Given the description of an element on the screen output the (x, y) to click on. 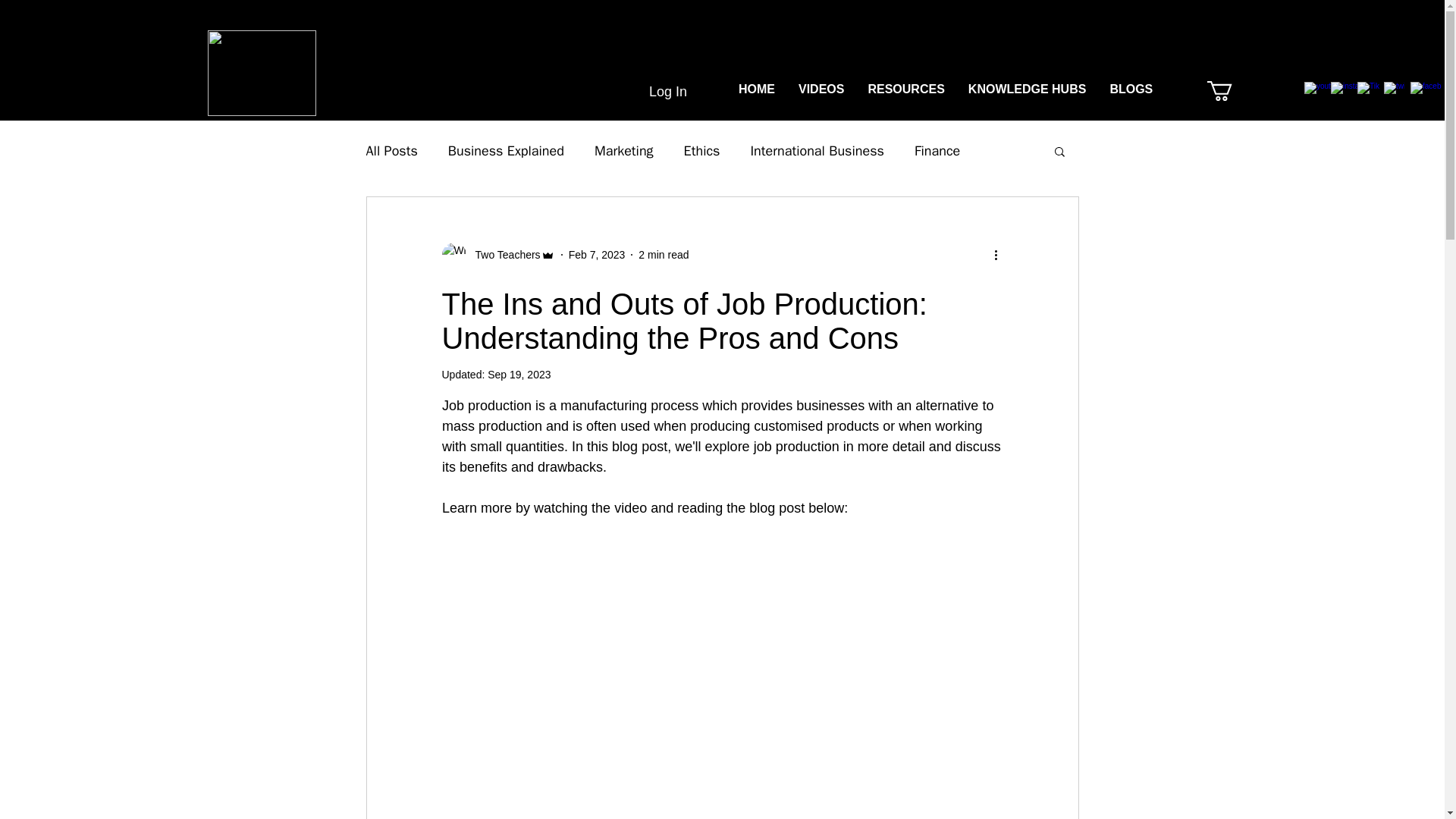
Ethics (702, 150)
Copy of Edexcel GCSE Topic 2.2 (1269, 91)
Sep 19, 2023 (518, 374)
VIDEOS (821, 91)
International Business (816, 150)
Feb 7, 2023 (597, 254)
Finance (936, 150)
2 min read (663, 254)
HOME (756, 91)
BLOGS (1130, 91)
RESOURCES (905, 91)
Two Teachers (497, 254)
Business Explained (506, 150)
Marketing (623, 150)
All Posts (390, 150)
